Given the description of an element on the screen output the (x, y) to click on. 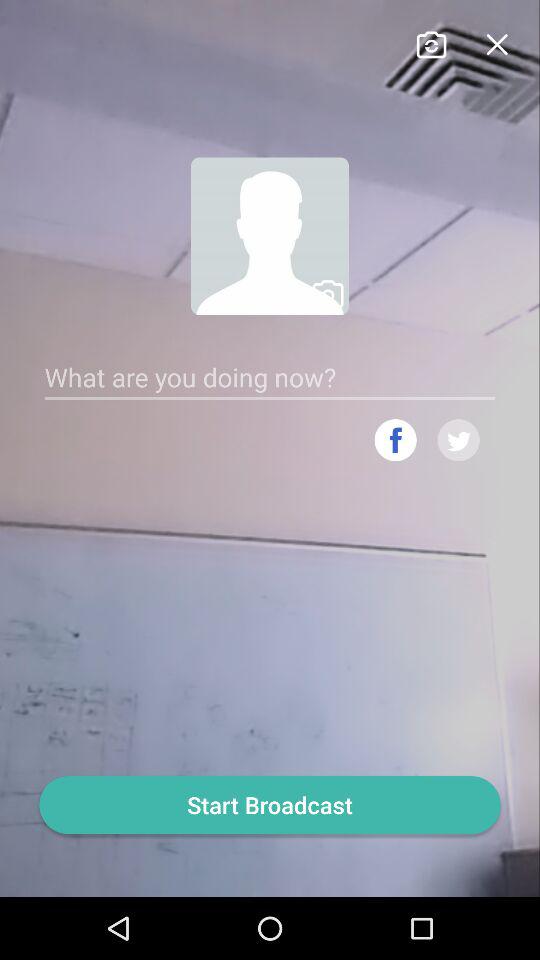
close (496, 42)
